Given the description of an element on the screen output the (x, y) to click on. 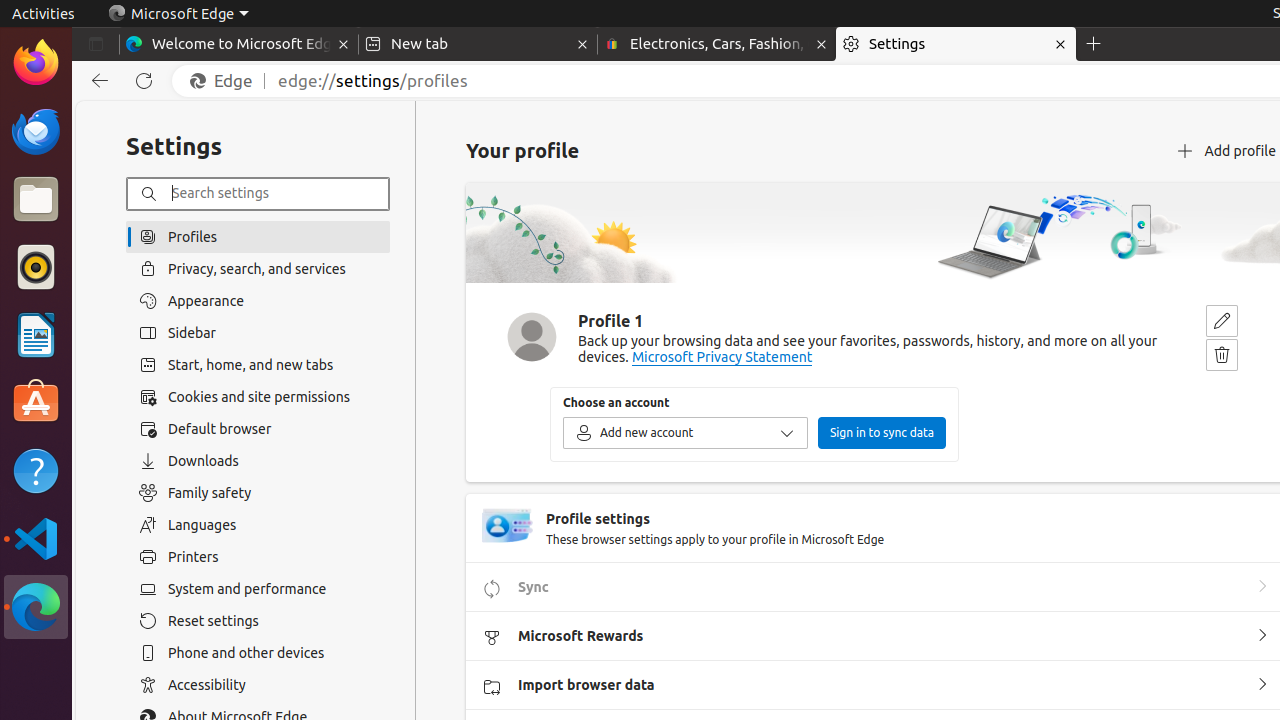
Edge Element type: push-button (226, 81)
Accessibility Element type: tree-item (258, 685)
Refresh Element type: push-button (144, 81)
Family safety Element type: tree-item (258, 493)
New tab Element type: page-tab (478, 44)
